Given the description of an element on the screen output the (x, y) to click on. 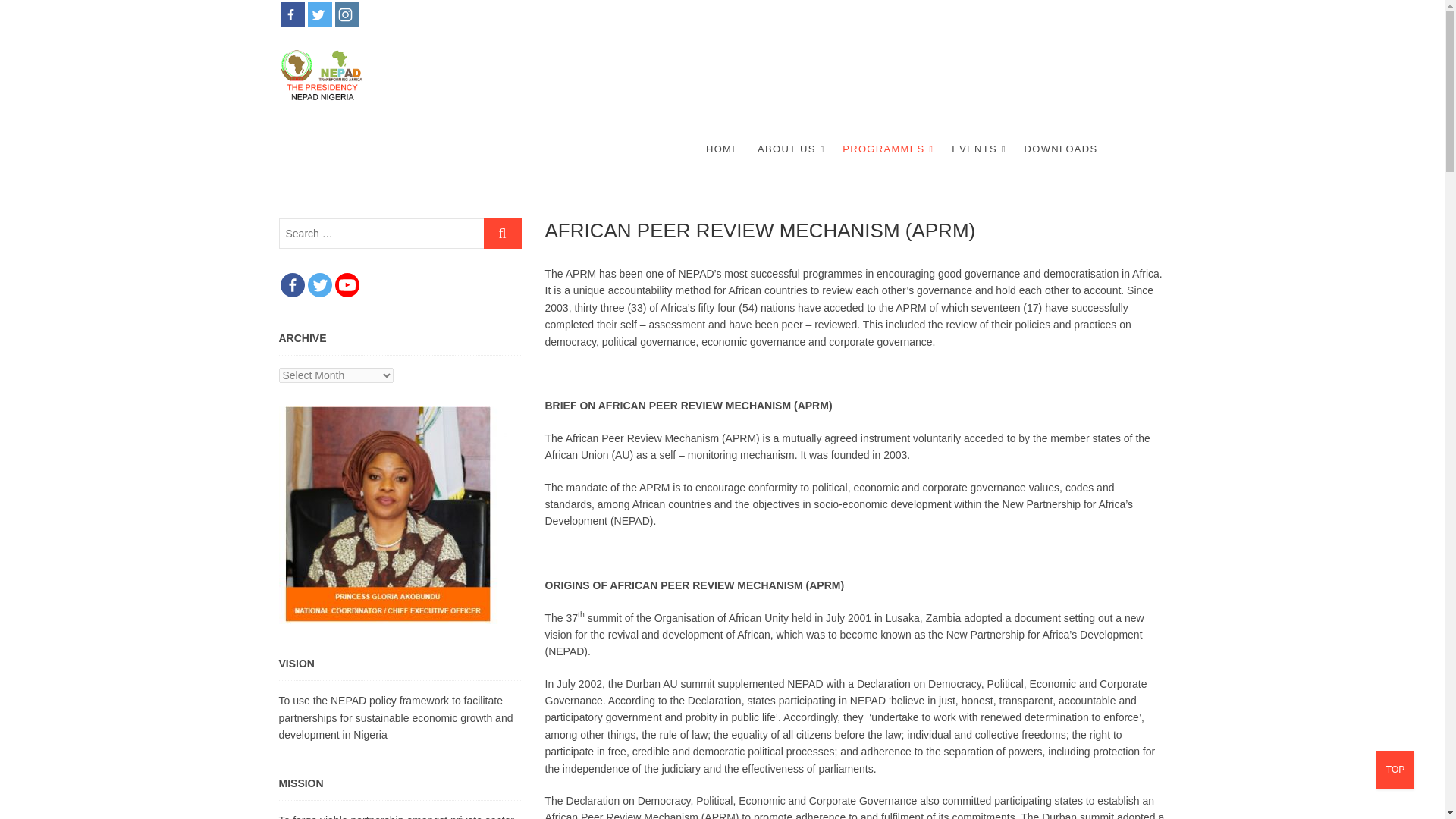
The Presidency NEPAD Nigeria (567, 76)
Facebook (292, 14)
Facebook (292, 284)
ABOUT US (790, 148)
The Presidency NEPAD Nigeria (567, 76)
PROGRAMMES (887, 148)
DOWNLOADS (1060, 148)
EVENTS (978, 148)
Youtube (346, 284)
Instagram (346, 14)
Twitter (319, 14)
Twitter (319, 284)
